Given the description of an element on the screen output the (x, y) to click on. 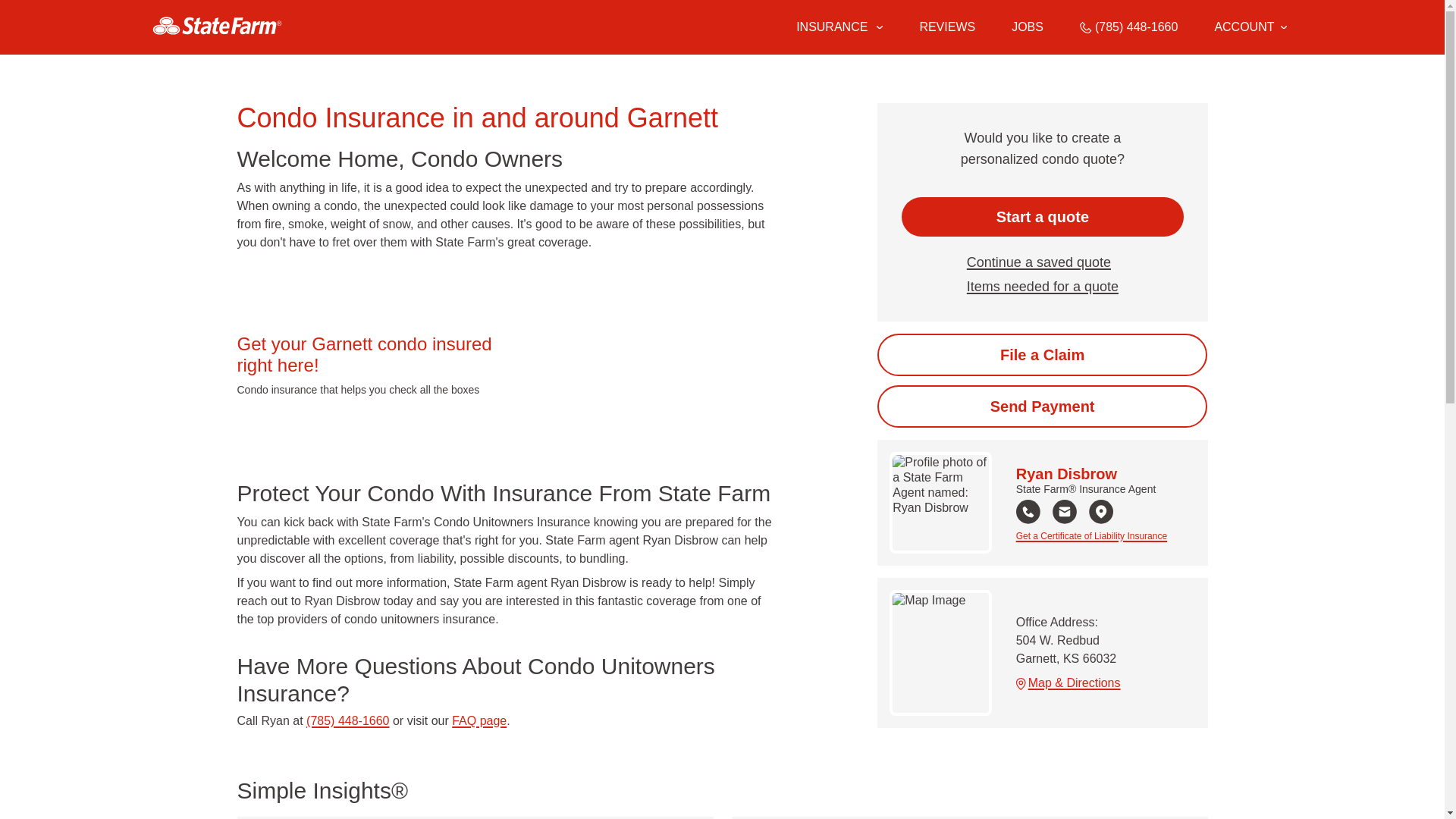
FAQ page (478, 720)
ACCOUNT (1250, 27)
JOBS (1027, 27)
Start the claim process online (1042, 354)
Insurance (839, 27)
REVIEWS (946, 27)
Account Options (1250, 27)
INSURANCE (830, 27)
